Given the description of an element on the screen output the (x, y) to click on. 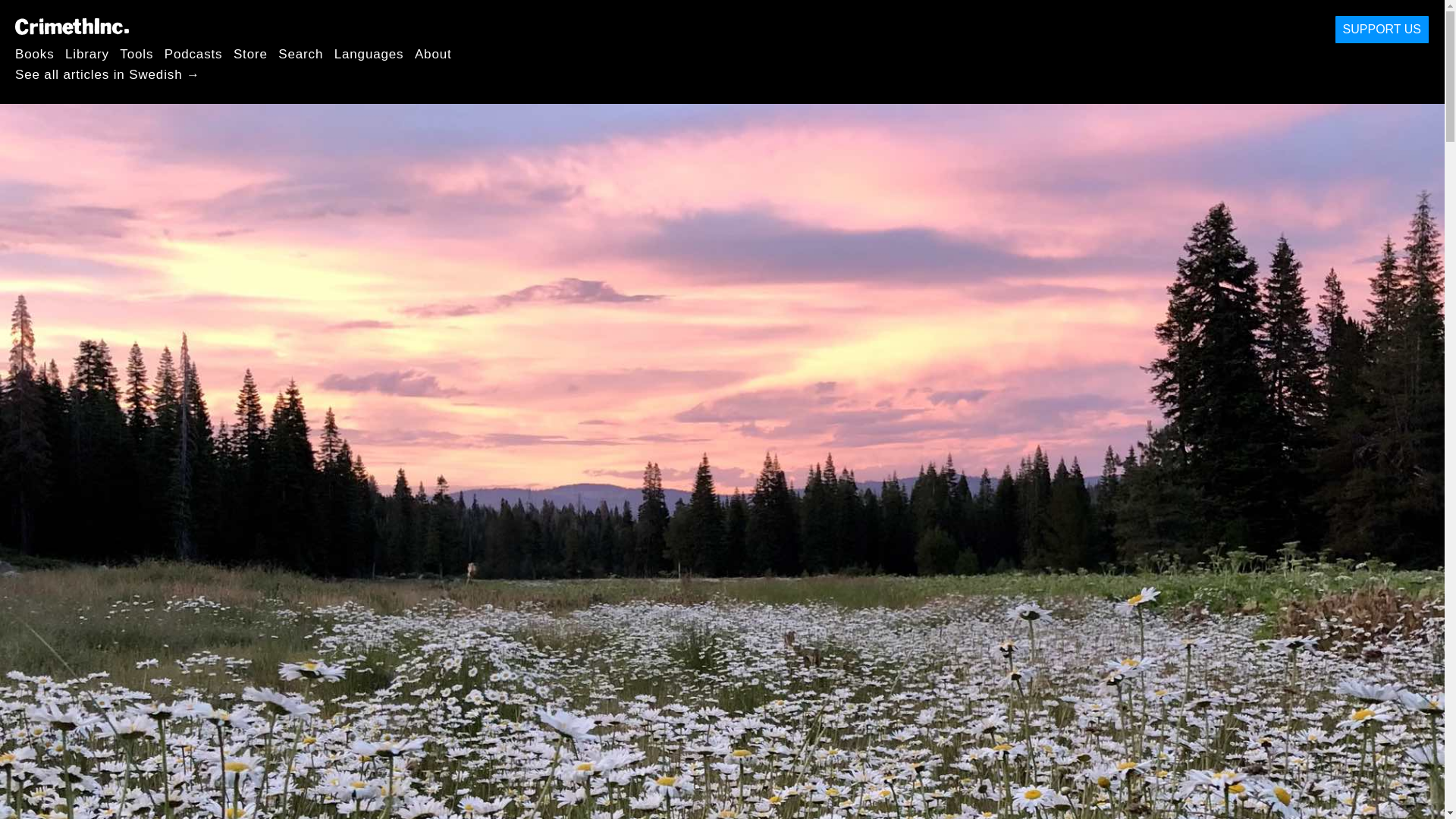
Podcasts (193, 53)
Search (300, 53)
Languages (369, 53)
Tools (135, 53)
Store (249, 53)
SUPPORT US (1382, 29)
Library (87, 53)
CrimethInc. (71, 26)
About (432, 53)
Books (34, 53)
